Given the description of an element on the screen output the (x, y) to click on. 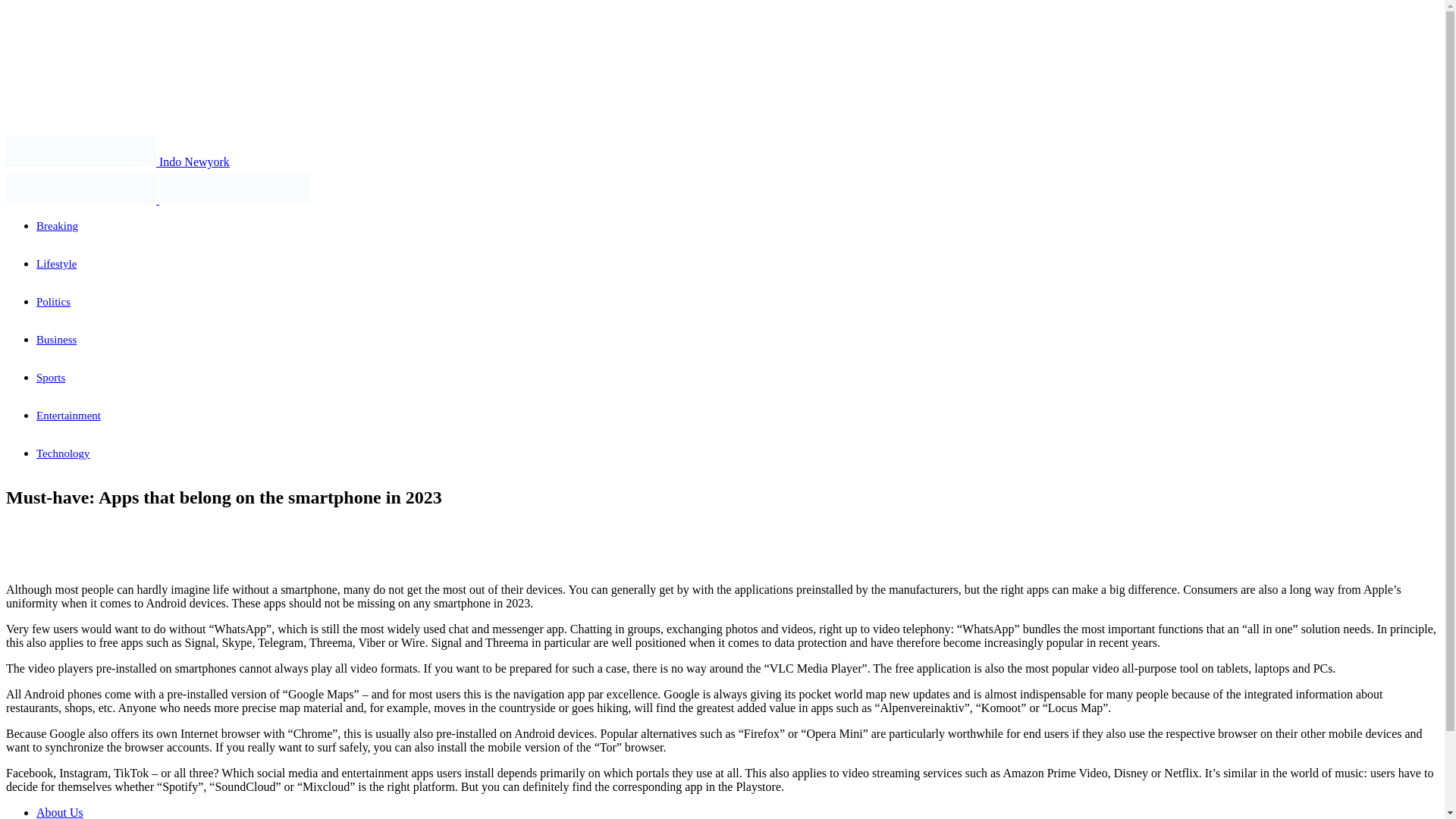
Indo Newyork (117, 161)
Breaking (57, 225)
Entertainment (68, 415)
Politics (52, 301)
Sports (50, 377)
About Us (59, 812)
Technology (63, 453)
Lifestyle (56, 263)
Business (56, 339)
